Given the description of an element on the screen output the (x, y) to click on. 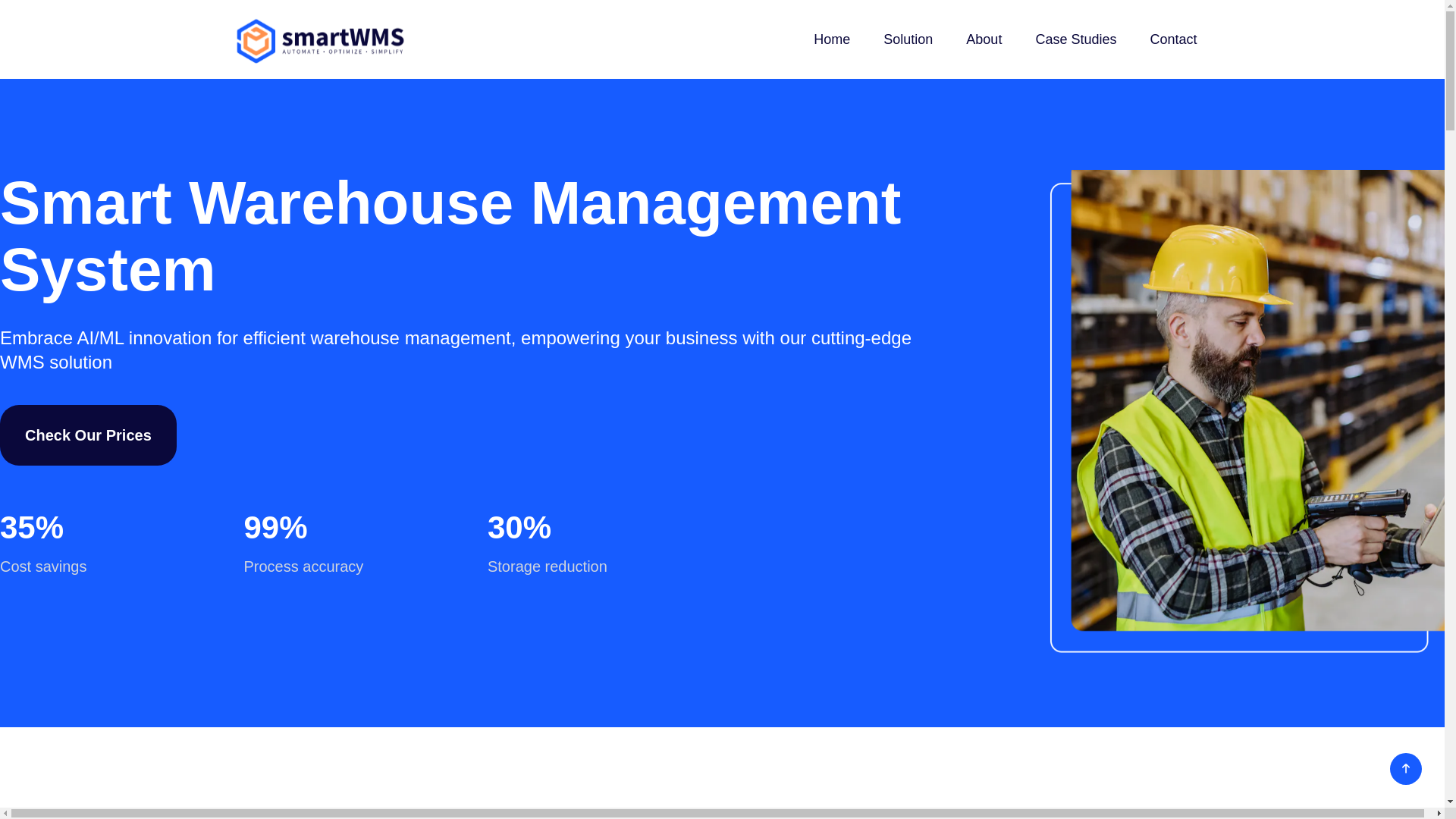
Home Element type: text (831, 39)
Case Studies Element type: text (1075, 39)
Check Our Prices Element type: text (88, 434)
About Element type: text (983, 39)
Solution Element type: text (907, 39)
Contact Element type: text (1172, 39)
